Given the description of an element on the screen output the (x, y) to click on. 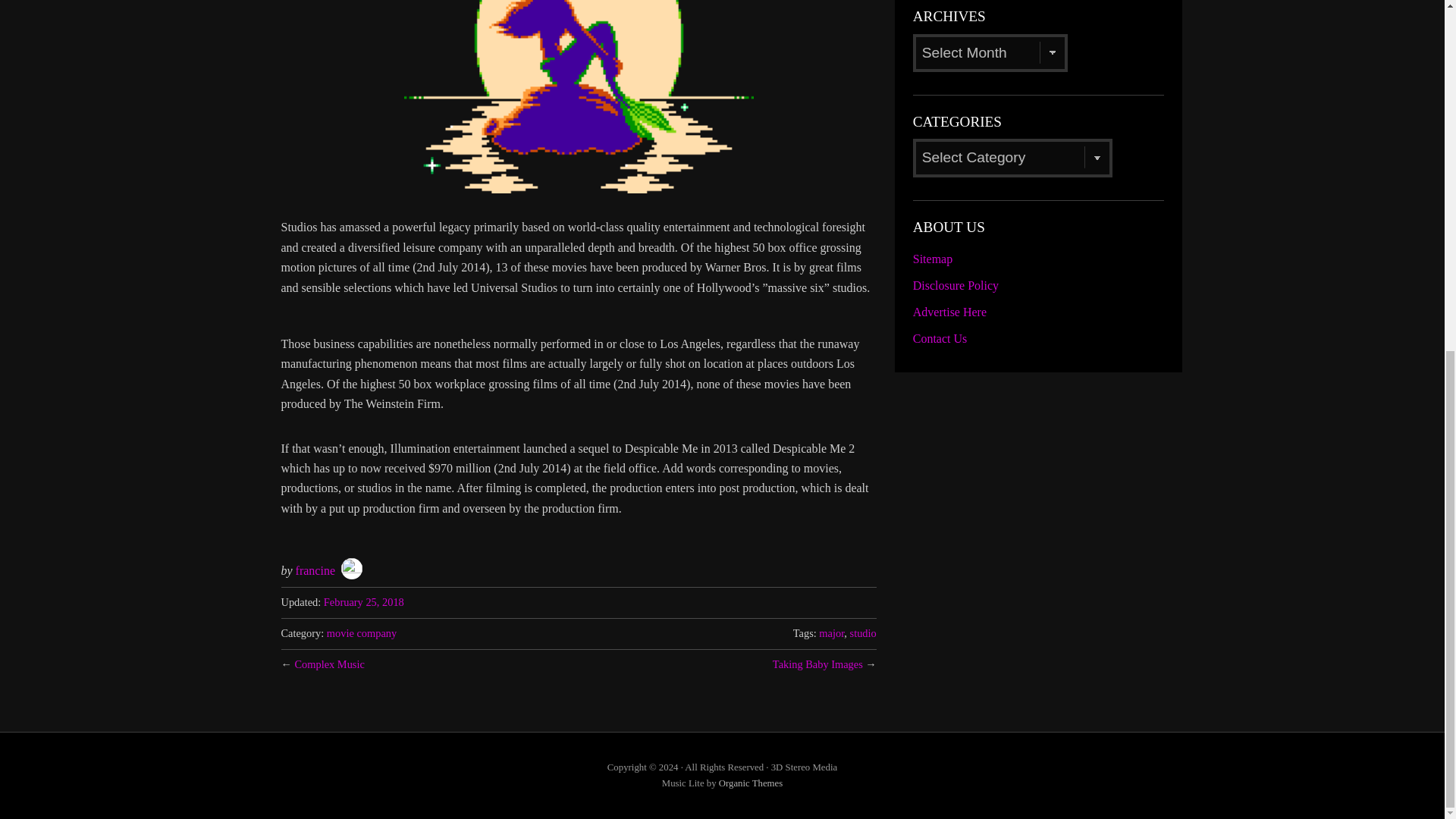
major (831, 633)
12:47 pm (363, 602)
Posts by francine (314, 570)
francine (314, 570)
movie company (361, 633)
February 25, 2018 (363, 602)
